Given the description of an element on the screen output the (x, y) to click on. 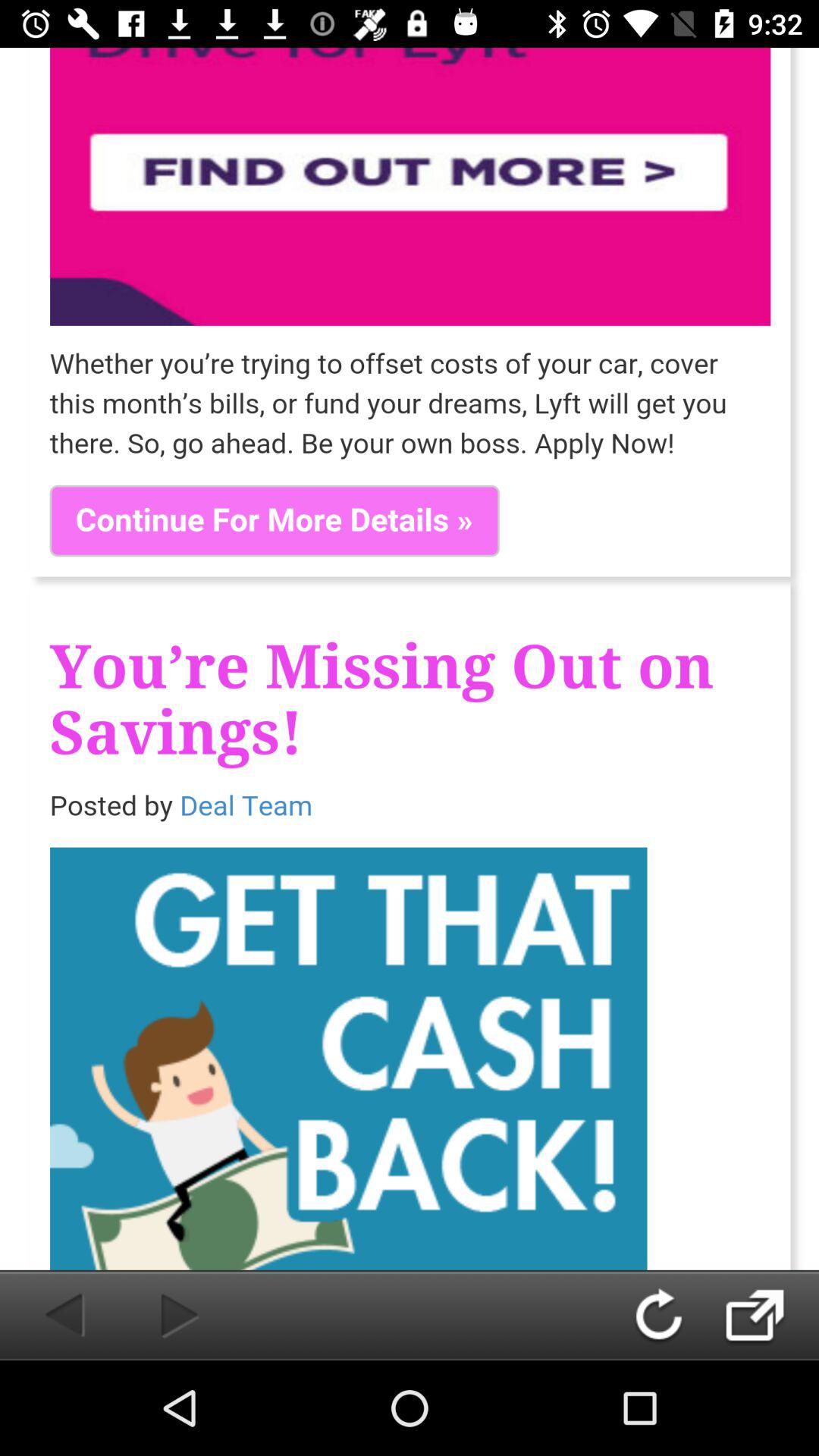
go to next (154, 1315)
